Given the description of an element on the screen output the (x, y) to click on. 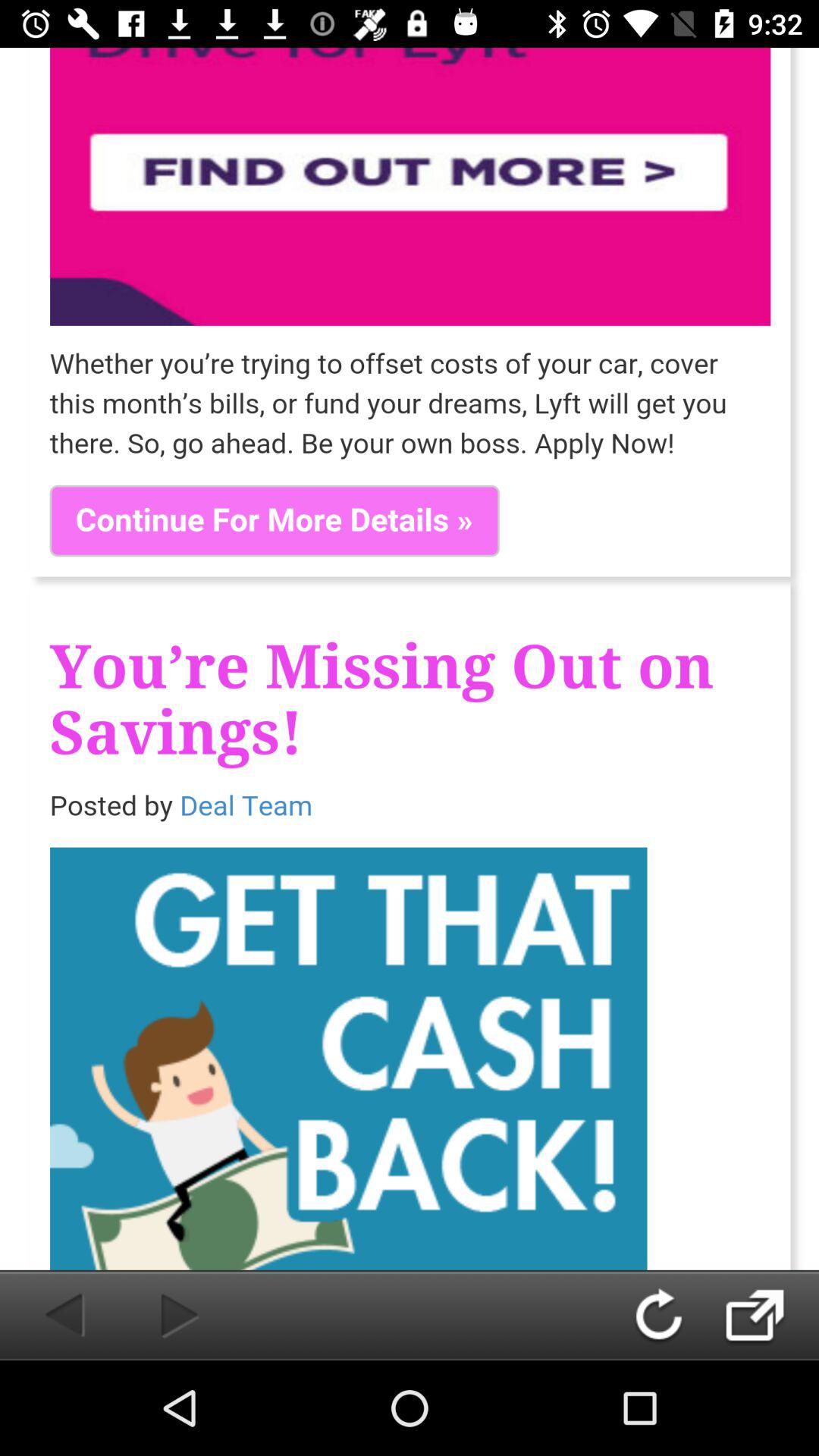
go to next (154, 1315)
